Given the description of an element on the screen output the (x, y) to click on. 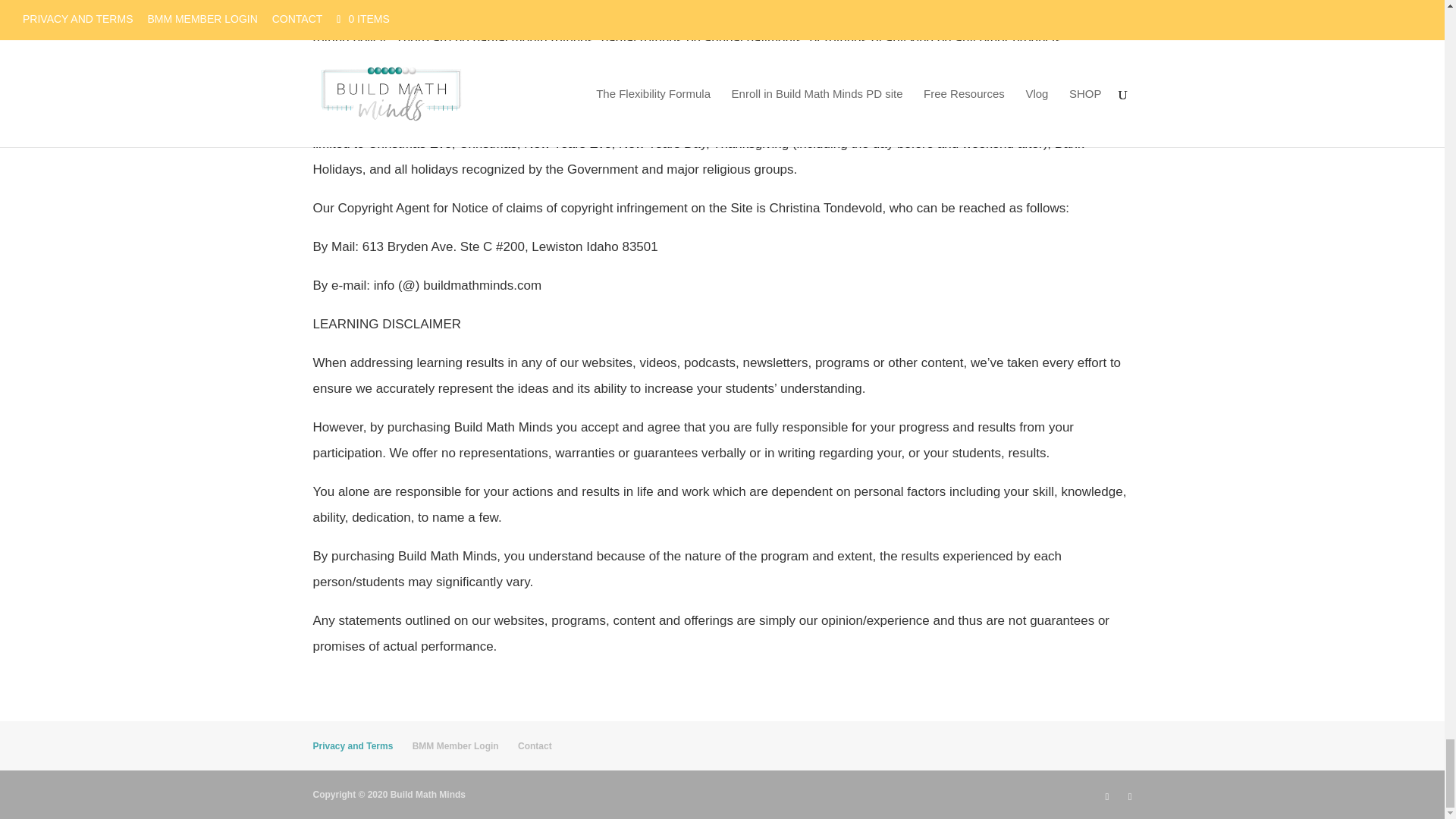
BMM Member Login (455, 746)
Contact (534, 746)
Privacy and Terms (353, 746)
